Given the description of an element on the screen output the (x, y) to click on. 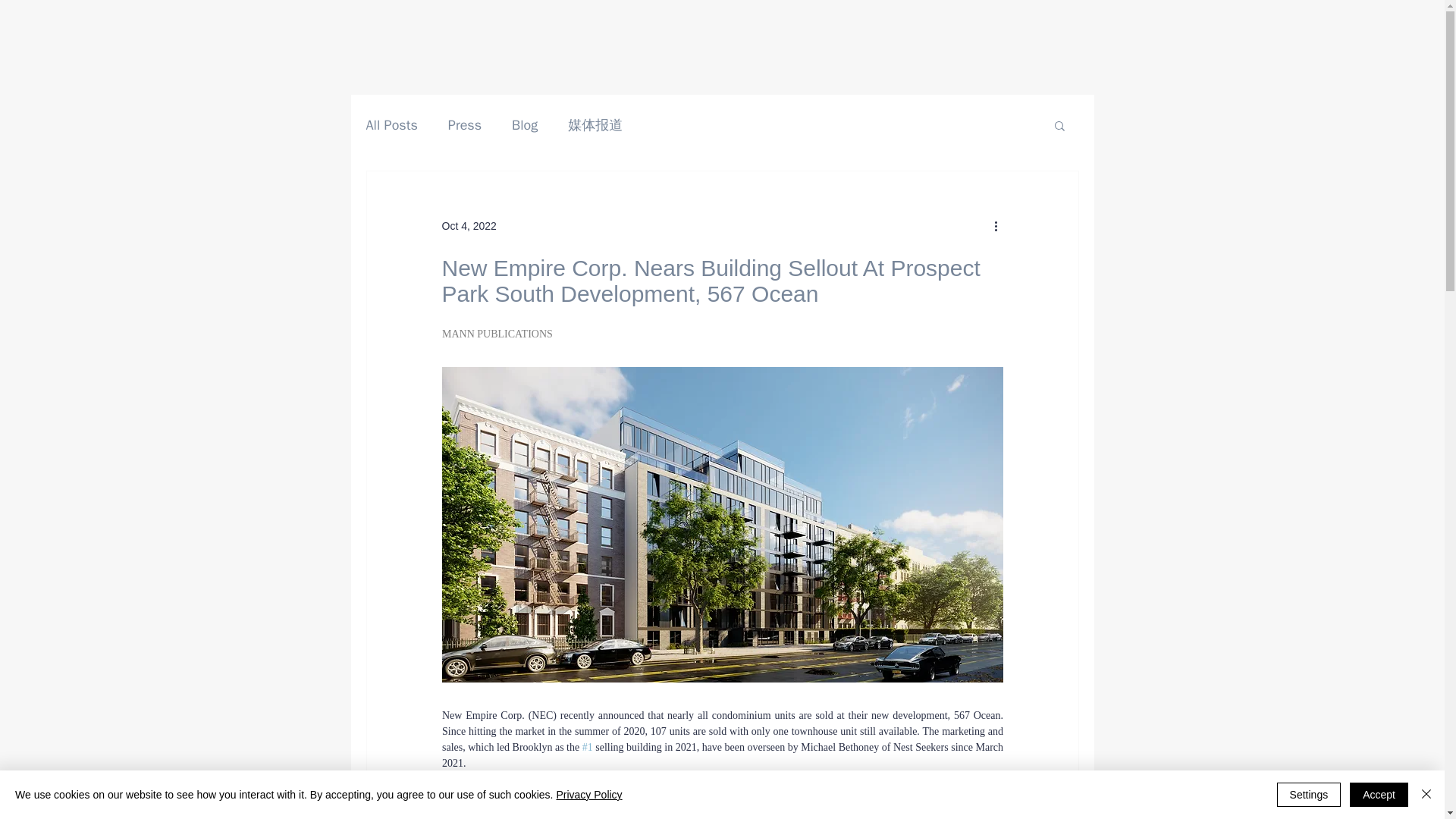
Oct 4, 2022 (468, 225)
Blog (524, 125)
Press (464, 125)
Privacy Policy (588, 794)
All Posts (390, 125)
